Given the description of an element on the screen output the (x, y) to click on. 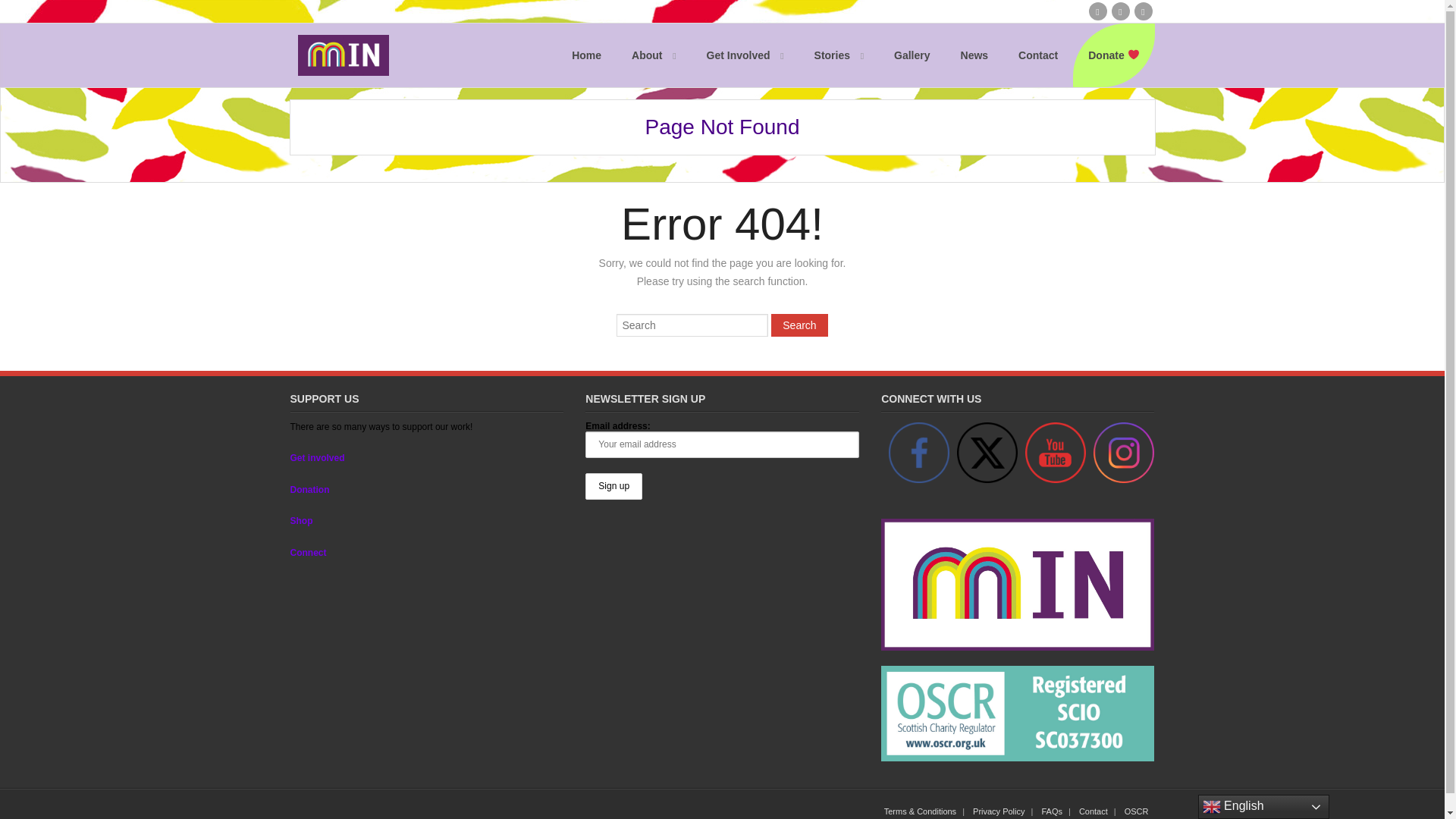
News (974, 54)
Stories (839, 54)
Gallery (911, 54)
YouTube (1055, 452)
Home (585, 54)
Facebook (918, 452)
Donate (1113, 54)
Contact (1038, 54)
Instagram (1123, 452)
Get Involved (745, 54)
Search (799, 324)
About (652, 54)
Sign up (613, 486)
Twitter (986, 452)
Search (799, 324)
